Given the description of an element on the screen output the (x, y) to click on. 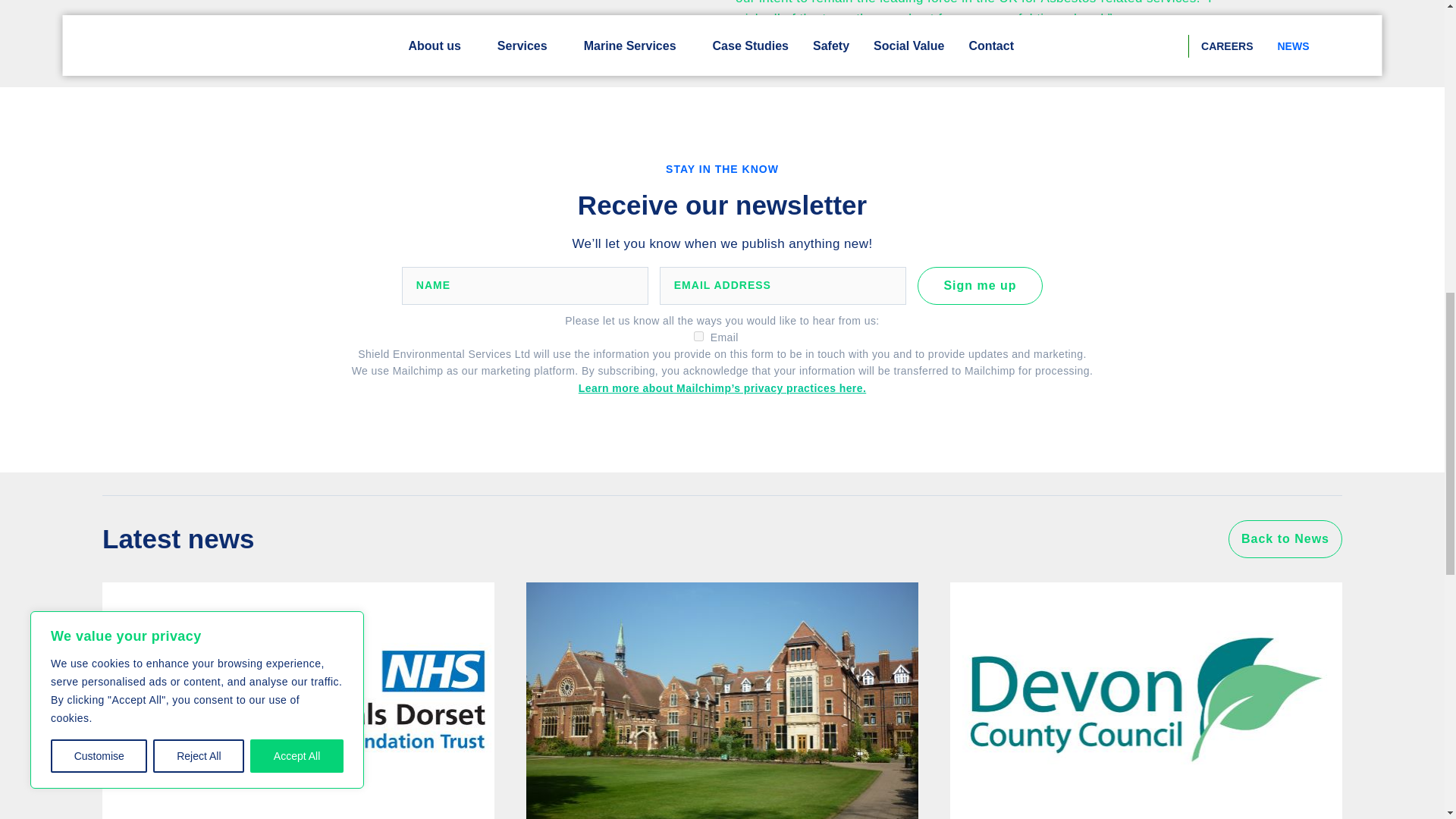
Y (698, 336)
